Given the description of an element on the screen output the (x, y) to click on. 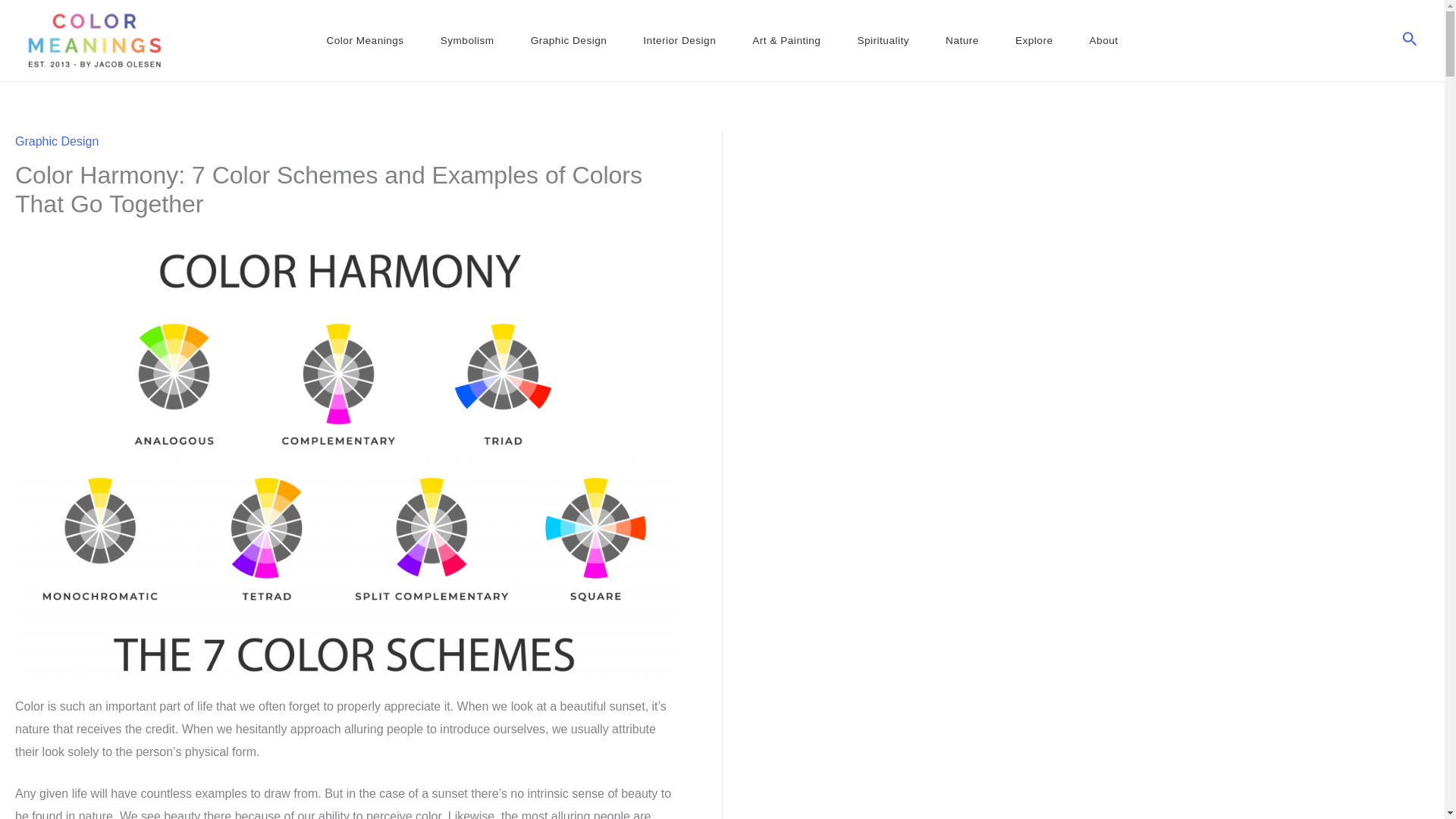
About (1102, 39)
Symbolism (467, 39)
Spirituality (882, 39)
Color Meanings (364, 39)
Nature (962, 39)
Interior Design (678, 39)
Graphic Design (56, 141)
Explore (1034, 39)
Graphic Design (569, 39)
